Given the description of an element on the screen output the (x, y) to click on. 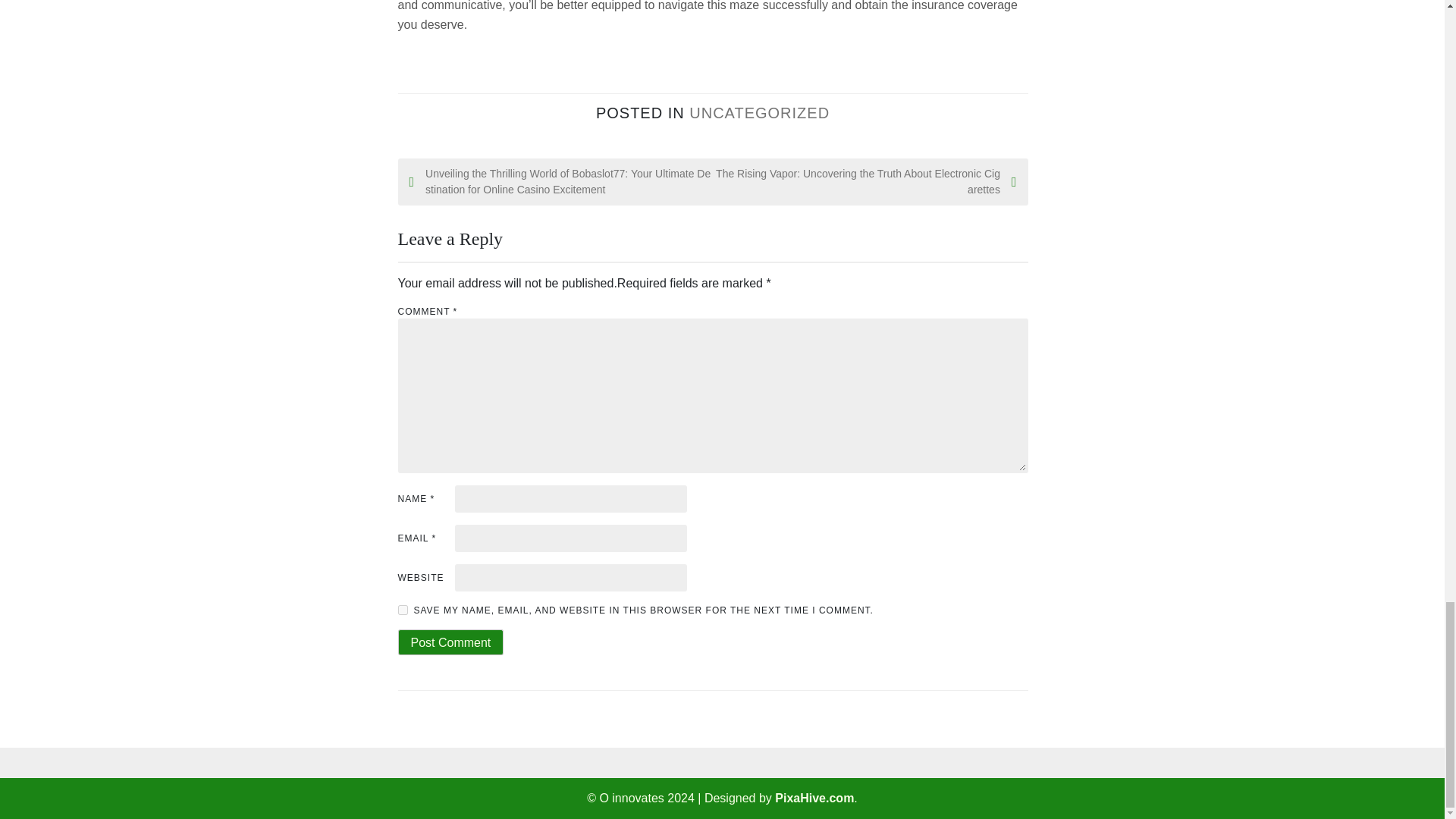
Post Comment (450, 642)
Post Comment (450, 642)
UNCATEGORIZED (758, 112)
yes (402, 610)
